Given the description of an element on the screen output the (x, y) to click on. 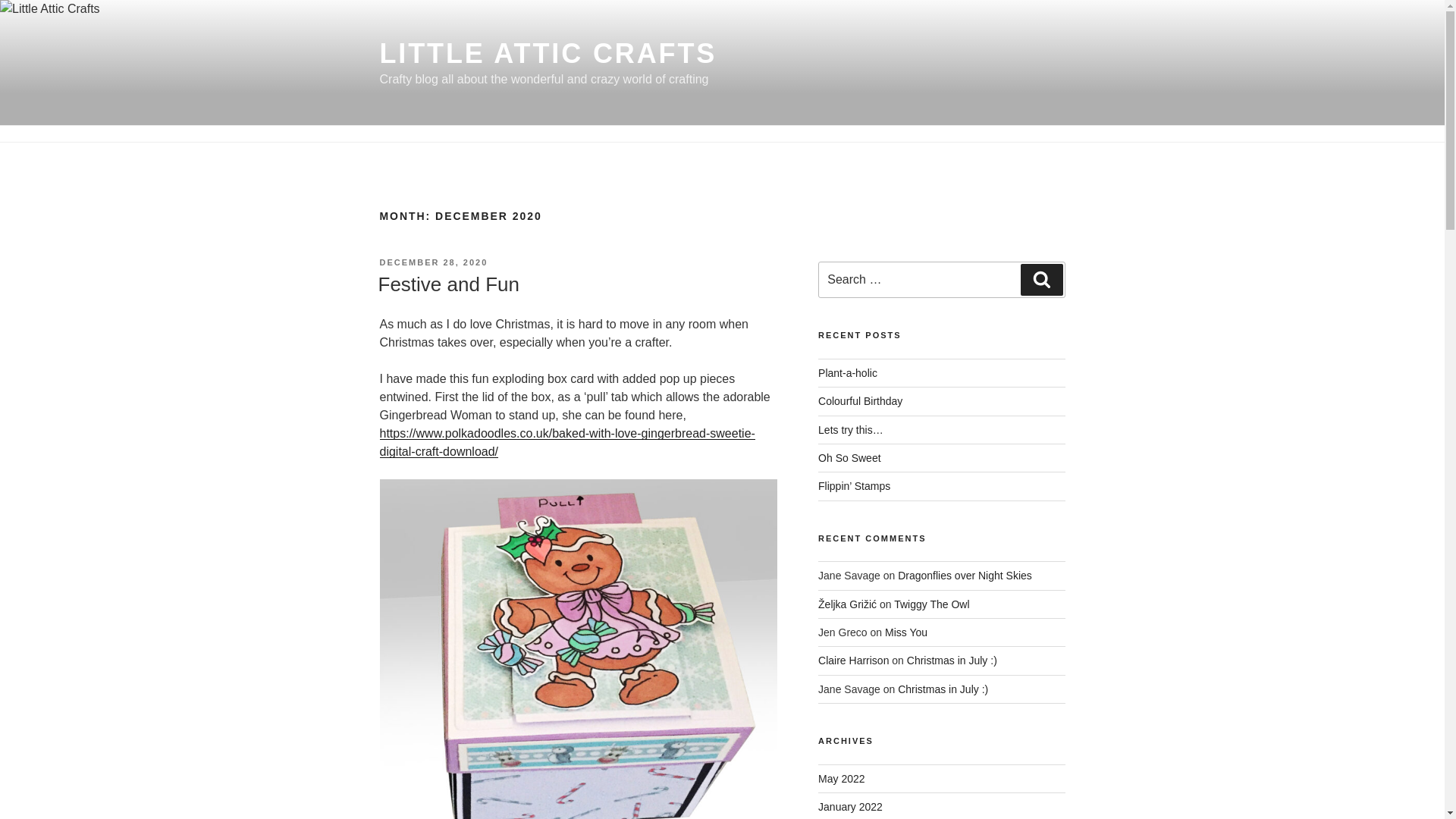
Plant-a-holic (847, 372)
Dragonflies over Night Skies (965, 575)
Miss You (906, 632)
DECEMBER 28, 2020 (432, 261)
LITTLE ATTIC CRAFTS (547, 52)
Oh So Sweet (849, 458)
Search (1041, 279)
Colourful Birthday (860, 400)
Claire Harrison (853, 660)
May 2022 (841, 778)
Twiggy The Owl (931, 604)
Festive and Fun (447, 283)
January 2022 (850, 806)
